Given the description of an element on the screen output the (x, y) to click on. 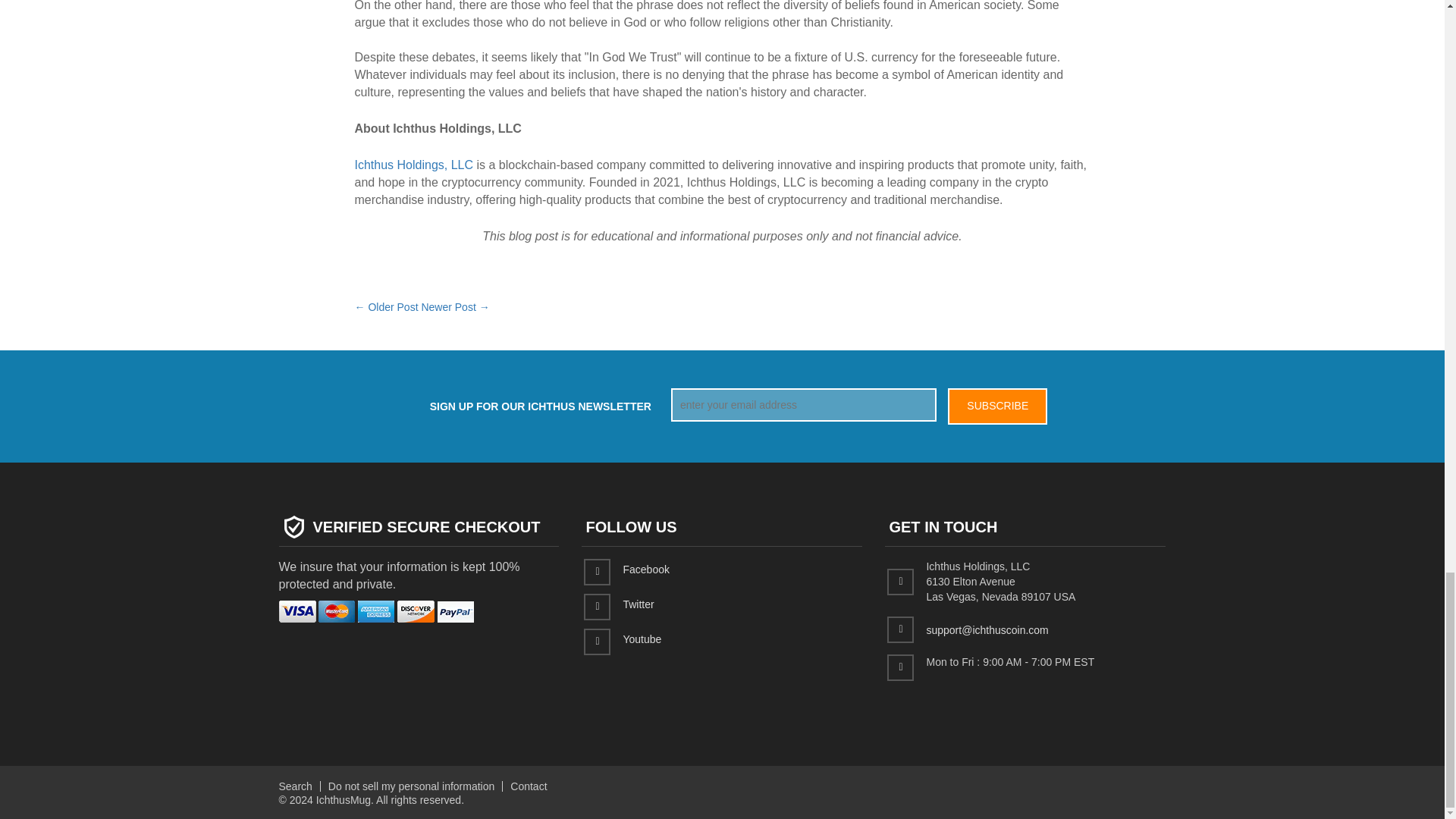
SUBSCRIBE (996, 406)
Ichthus Holdings, LLC (414, 164)
Contact (529, 786)
IchthusMug on Facebook (645, 569)
Facebook (645, 569)
Do not sell my personal information (412, 786)
IchthusMug on Youtube (642, 639)
IchthusMug on Twitter (638, 604)
Youtube (642, 639)
Search (296, 786)
Twitter (638, 604)
